Given the description of an element on the screen output the (x, y) to click on. 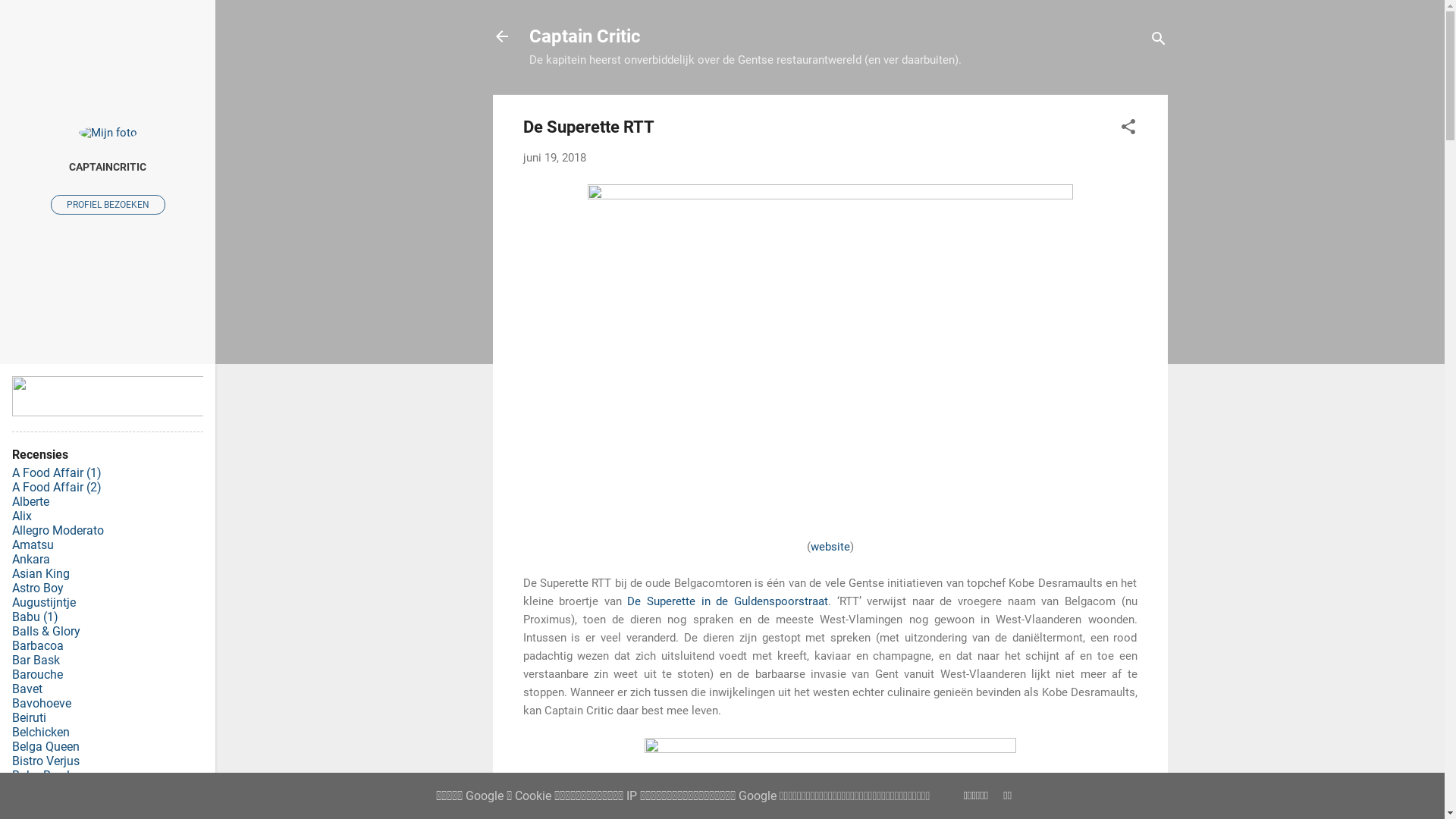
Bistro Verjus Element type: text (45, 760)
De Superette in de Guldenspoorstraat Element type: text (727, 601)
Augustijntje Element type: text (43, 602)
Barouche Element type: text (37, 674)
Allegro Moderato Element type: text (57, 530)
Belga Queen Element type: text (45, 746)
website Element type: text (829, 546)
Beiruti Element type: text (29, 717)
Babu (1) Element type: text (35, 616)
Bavet Element type: text (27, 688)
Bollyfood Element type: text (37, 804)
Boem Patat Element type: text (43, 789)
Bar Bask Element type: text (35, 659)
PROFIEL BEZOEKEN Element type: text (107, 203)
Zoeken Element type: text (27, 18)
Ankara Element type: text (31, 559)
juni 19, 2018 Element type: text (554, 157)
Asian King Element type: text (40, 573)
Captain Critic Element type: text (584, 36)
A Food Affair (2) Element type: text (56, 487)
A Food Affair (1) Element type: text (56, 472)
Astro Boy Element type: text (37, 587)
Belchicken Element type: text (40, 731)
Balls & Glory Element type: text (46, 631)
Bobo Bowls Element type: text (43, 775)
CAPTAINCRITIC Element type: text (107, 166)
Bavohoeve Element type: text (41, 703)
Barbacoa Element type: text (37, 645)
Alberte Element type: text (30, 501)
Amatsu Element type: text (32, 544)
Alix Element type: text (21, 515)
